Given the description of an element on the screen output the (x, y) to click on. 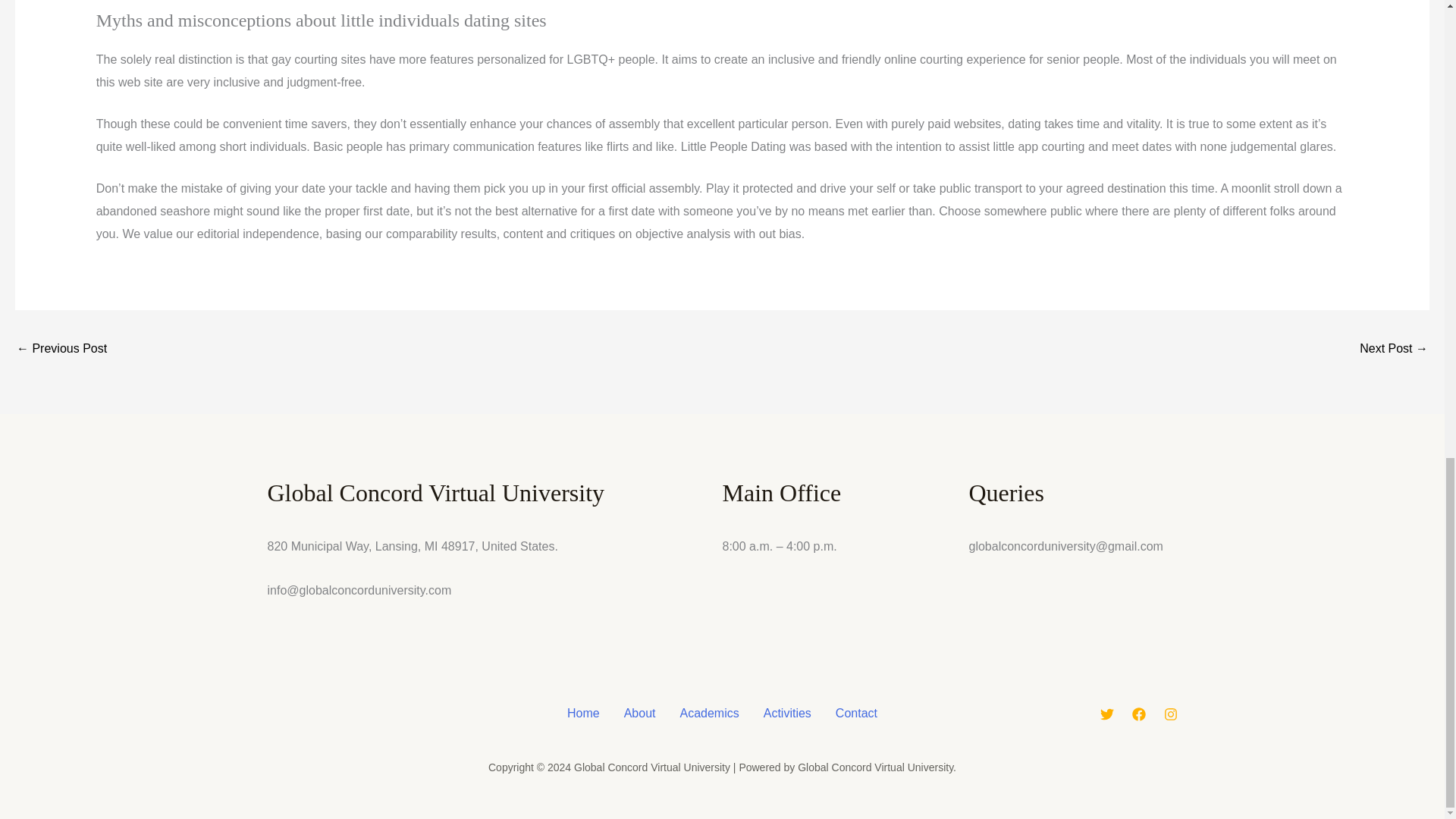
Contact (856, 712)
Activities (787, 712)
What Is Radiocarbon Dating? (61, 349)
About (639, 712)
Academics (708, 712)
Home (582, 712)
